Given the description of an element on the screen output the (x, y) to click on. 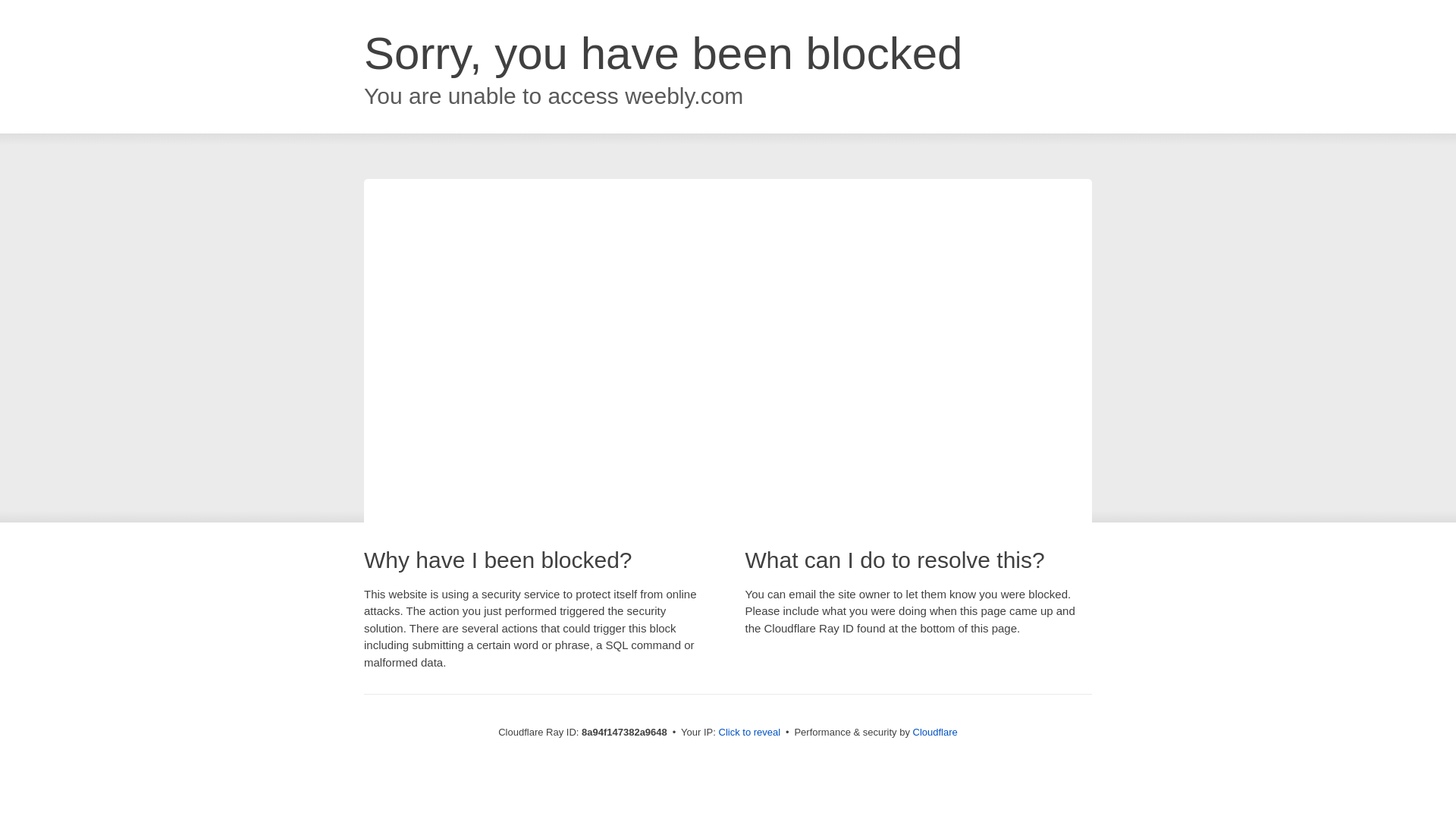
Click to reveal (749, 732)
Cloudflare (935, 731)
